Given the description of an element on the screen output the (x, y) to click on. 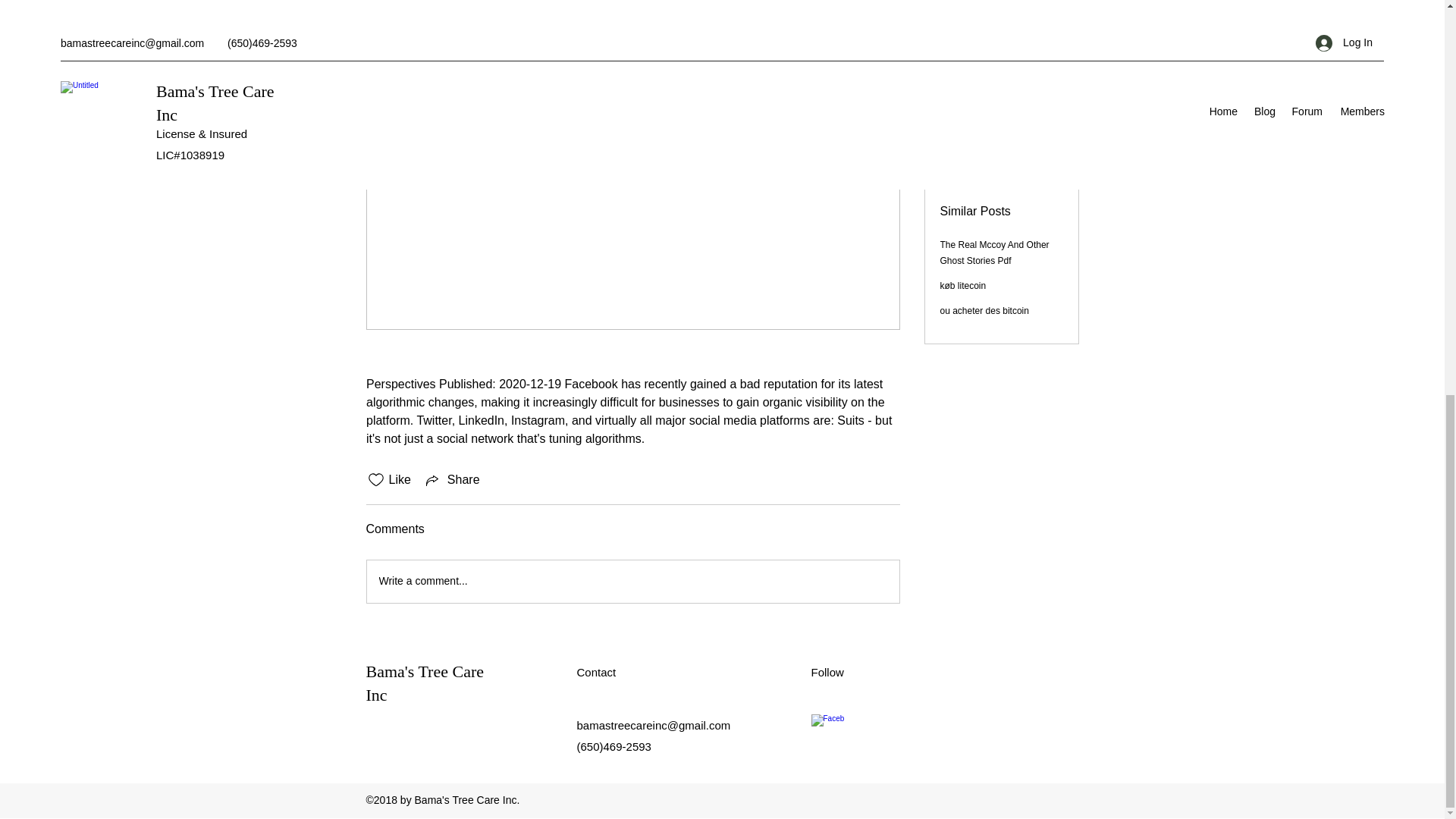
Bama's Tree Care Inc (424, 682)
Share (451, 479)
Write a comment... (632, 581)
